Given the description of an element on the screen output the (x, y) to click on. 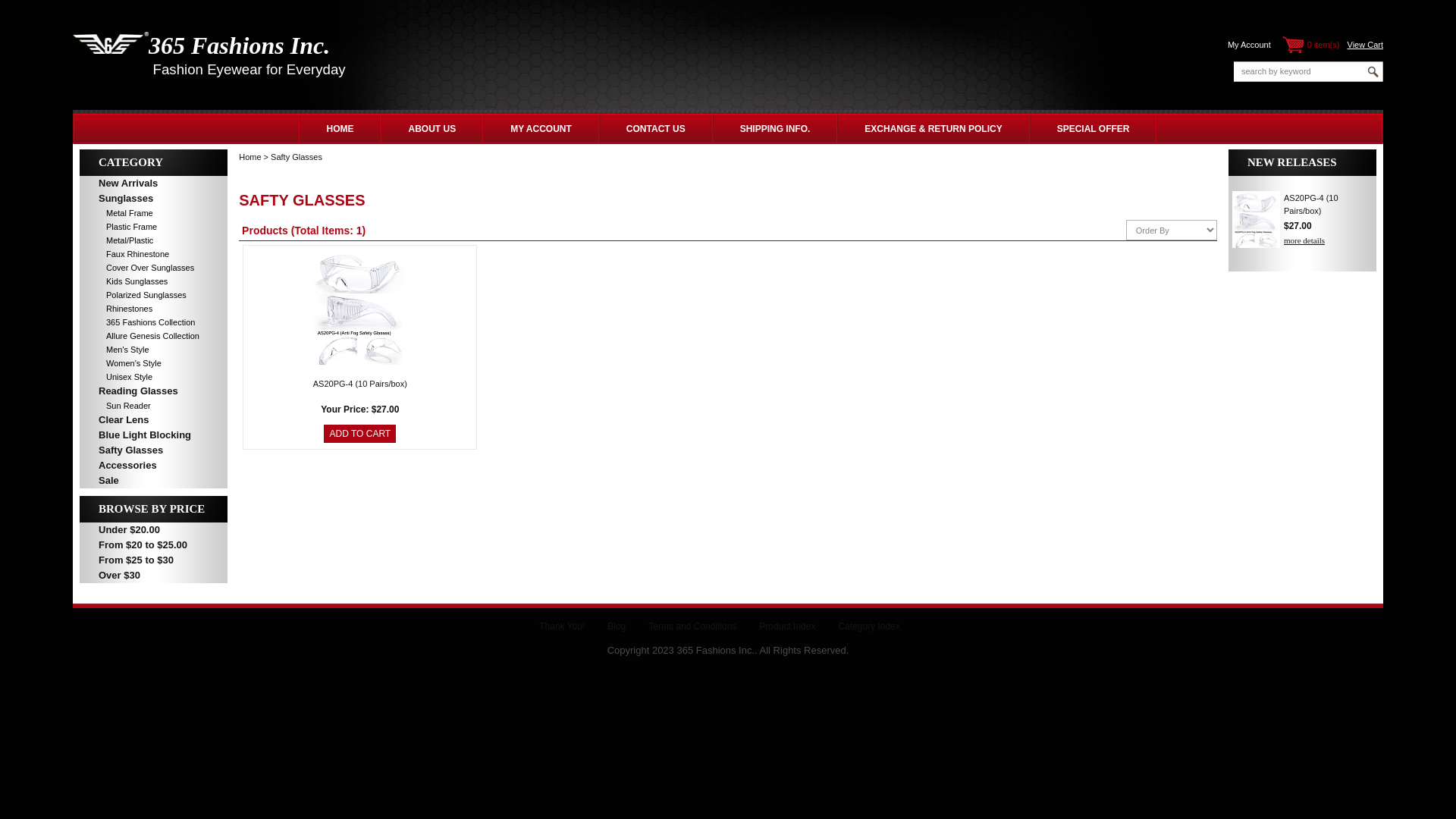
Unisex Style Element type: text (115, 376)
New Arrivals Element type: text (153, 183)
Sunglasses Element type: text (153, 198)
Blue Light Blocking Element type: text (153, 434)
Sale Element type: text (153, 480)
Product Index Element type: text (787, 626)
Rhinestones Element type: text (115, 308)
Cover Over Sunglasses Element type: text (136, 267)
SPECIAL OFFER Element type: text (1093, 127)
Plastic Frame Element type: text (117, 226)
Clear Lens Element type: text (153, 419)
Add To Cart Element type: text (359, 433)
AS20PG-4 (10 Pairs/box) Element type: text (1310, 204)
Kids Sunglasses Element type: text (123, 280)
more details Element type: text (1303, 239)
Women's Style Element type: text (120, 362)
EXCHANGE & RETURN POLICY Element type: text (932, 127)
Home Element type: text (249, 156)
Faux Rhinestone Element type: text (124, 253)
365 Fashions Collection Element type: text (136, 321)
Safty Glasses Element type: text (153, 450)
HOME Element type: text (340, 127)
Accessories Element type: text (153, 465)
CONTACT US Element type: text (655, 127)
Men's Style Element type: text (114, 349)
SHIPPING INFO. Element type: text (775, 127)
My Account Element type: text (1248, 44)
View Cart Element type: text (1365, 44)
Metal/Plastic Element type: text (116, 239)
Sun Reader Element type: text (114, 405)
Safty Glasses Element type: text (296, 156)
Polarized Sunglasses Element type: text (132, 294)
Metal Frame Element type: text (116, 212)
From $20 to $25.00 Element type: text (153, 544)
AS20PG-4 (10 Pairs/box) Element type: text (360, 383)
MY ACCOUNT Element type: text (540, 127)
Allure Genesis Collection Element type: text (139, 335)
Over $30 Element type: text (153, 575)
Terms and Conditions Element type: text (692, 626)
Reading Glasses Element type: text (153, 390)
ABOUT US Element type: text (432, 127)
Under $20.00 Element type: text (153, 529)
From $25 to $30 Element type: text (153, 559)
Category Index Element type: text (868, 626)
Thank You! Element type: text (561, 626)
Blog Element type: text (616, 626)
